Given the description of an element on the screen output the (x, y) to click on. 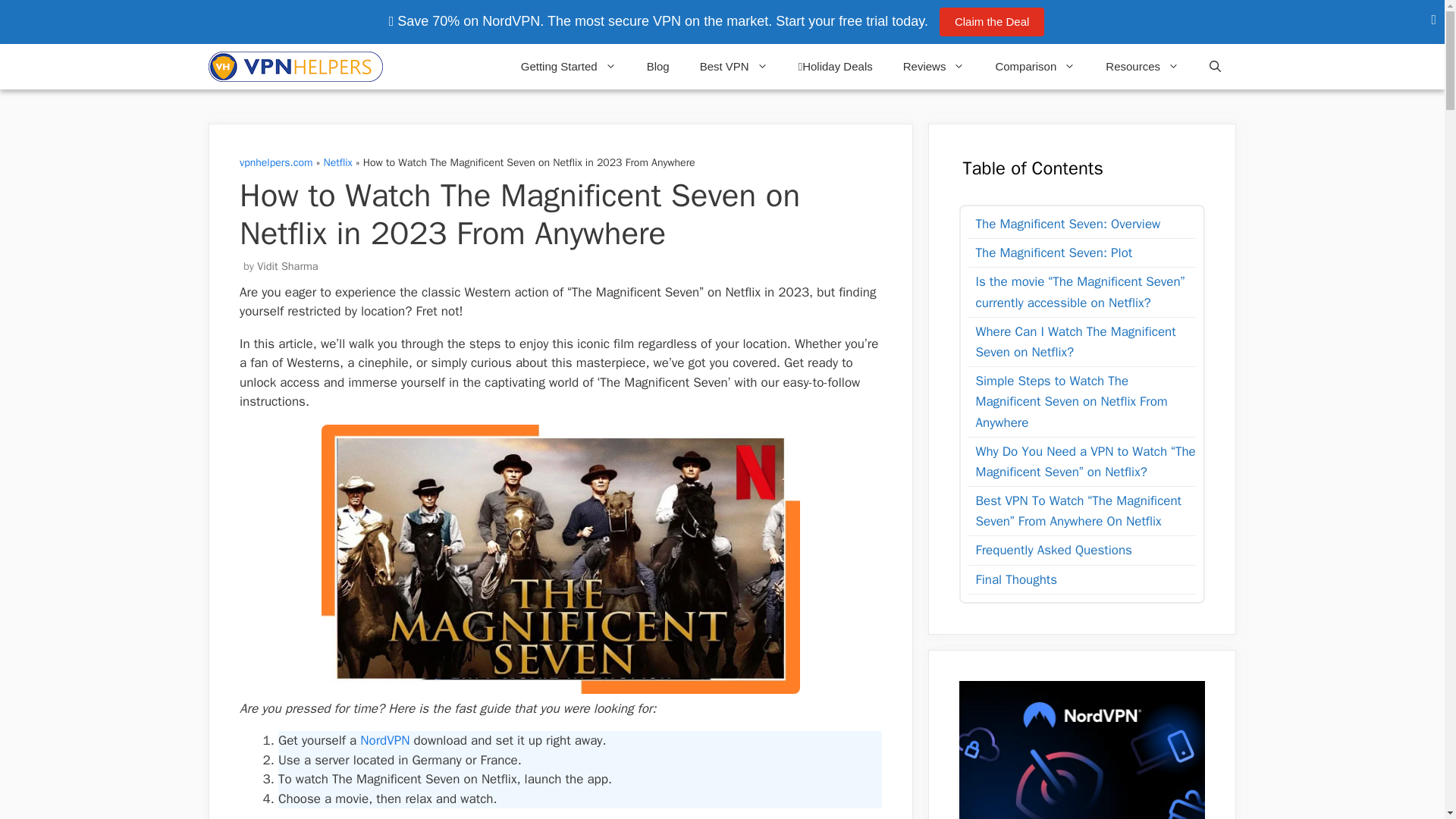
The Magnificent Seven: Overview (1064, 223)
Best VPN (733, 66)
Blog (657, 66)
VPN Helpers (295, 66)
Getting Started (568, 66)
VPN Helpers (299, 66)
Claim the Deal (991, 21)
View all posts by Vidit Sharma (287, 265)
The Magnificent Seven: Plot (1050, 252)
Where Can I Watch The Magnificent Seven on Netflix? (1081, 341)
